Given the description of an element on the screen output the (x, y) to click on. 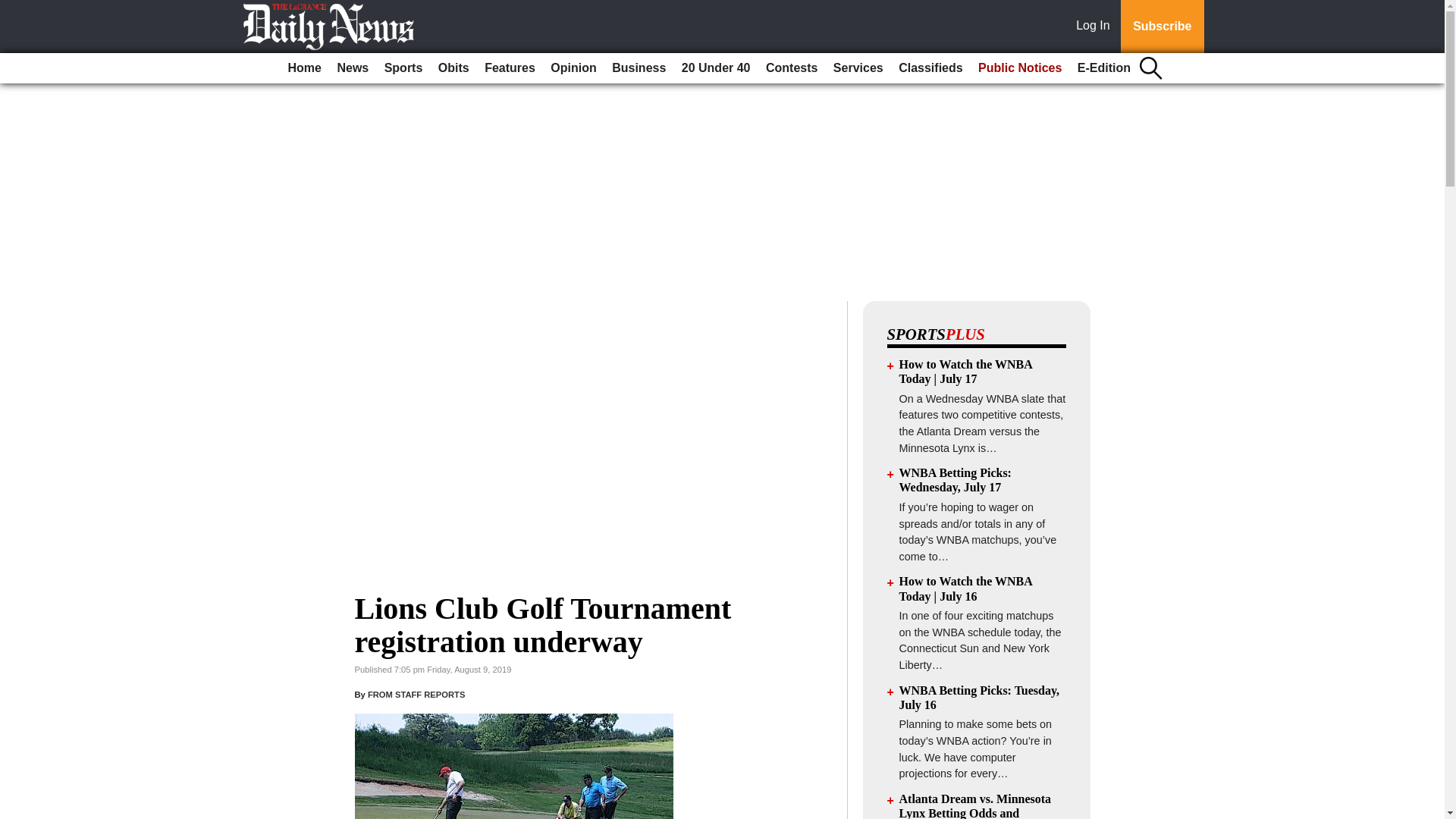
Public Notices (1019, 68)
News (352, 68)
Sports (403, 68)
Classifieds (930, 68)
Features (510, 68)
FROM STAFF REPORTS (416, 694)
Go (13, 9)
20 Under 40 (716, 68)
Log In (1095, 26)
Subscribe (1162, 26)
Contests (792, 68)
Business (638, 68)
E-Edition (1104, 68)
WNBA Betting Picks: Tuesday, July 16 (979, 697)
Obits (454, 68)
